Given the description of an element on the screen output the (x, y) to click on. 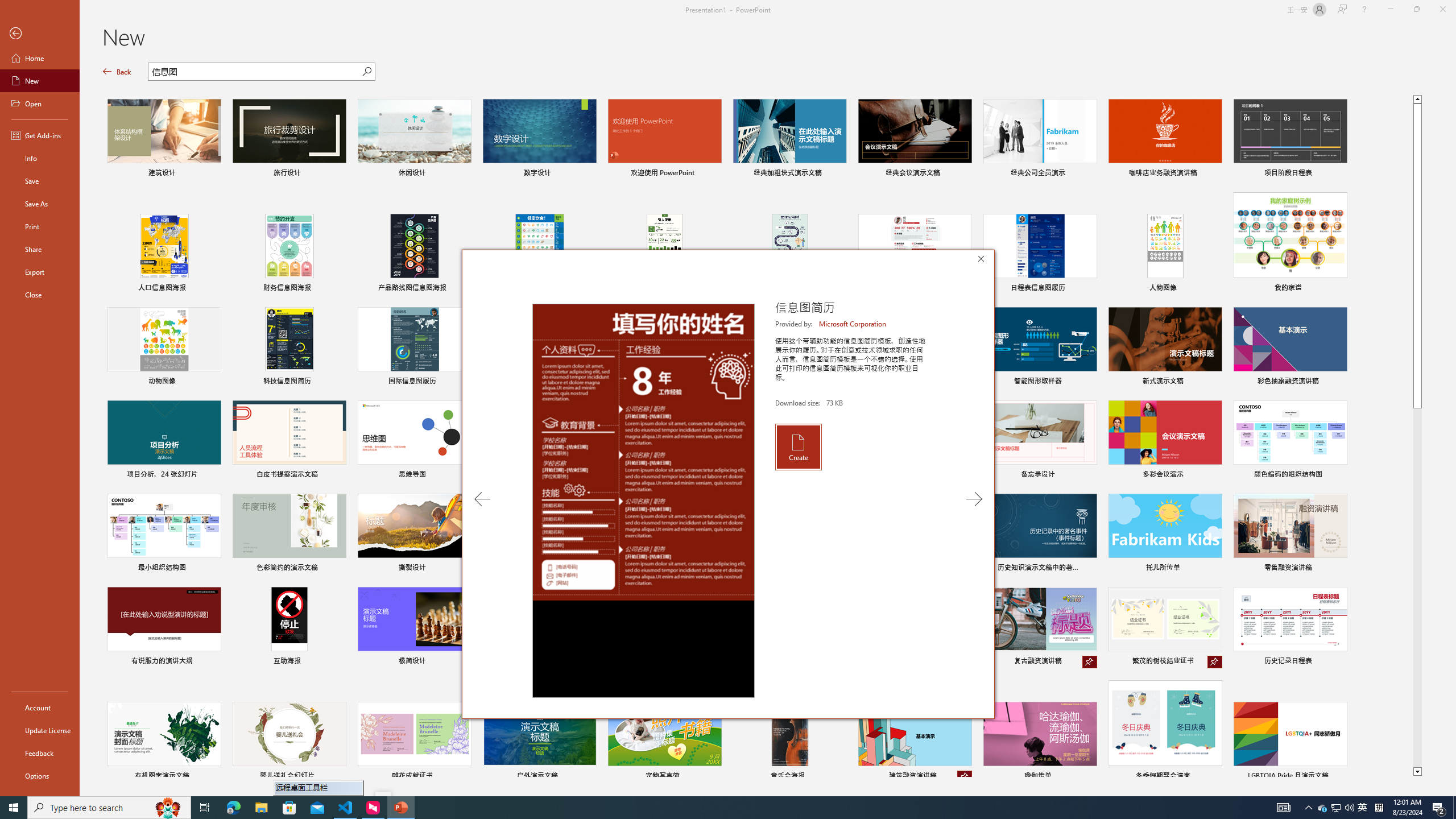
Export (40, 271)
Options (40, 775)
File Explorer (261, 807)
Get Add-ins (40, 134)
Microsoft Corporation (853, 323)
